Given the description of an element on the screen output the (x, y) to click on. 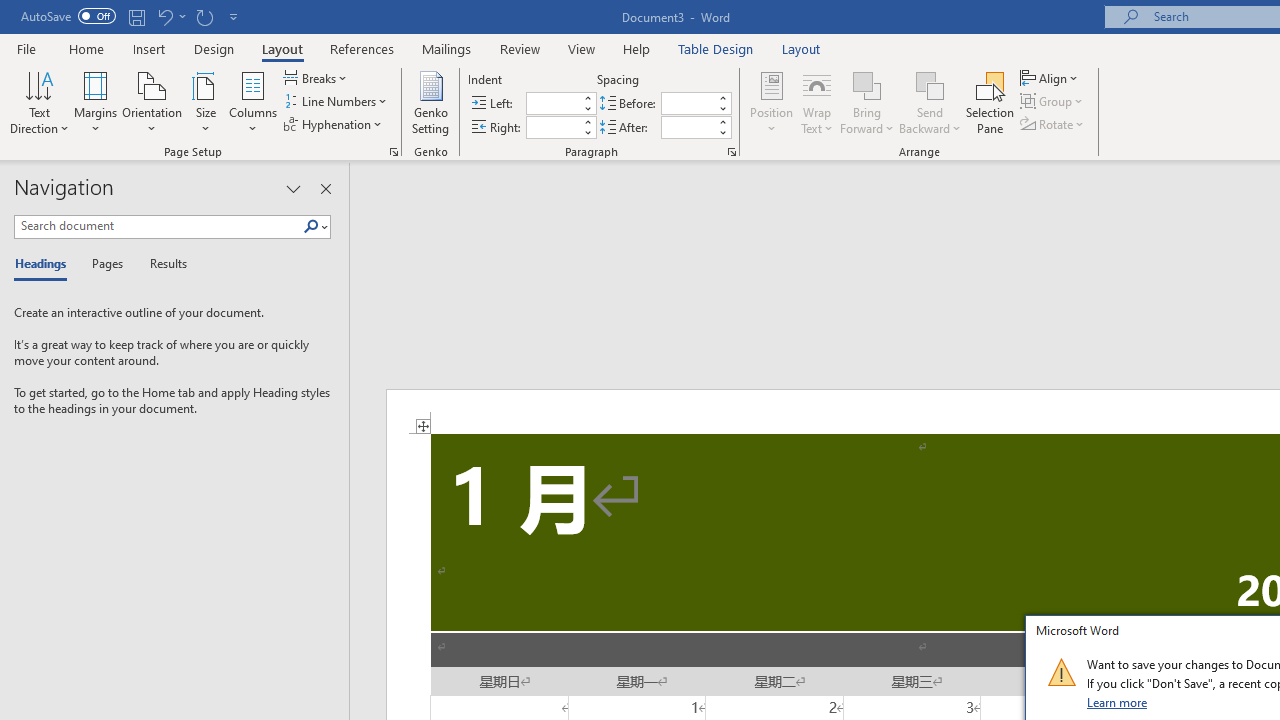
Send Backward (930, 84)
Rotate (1053, 124)
Columns (253, 102)
Genko Setting... (430, 102)
Indent Left (552, 103)
